Given the description of an element on the screen output the (x, y) to click on. 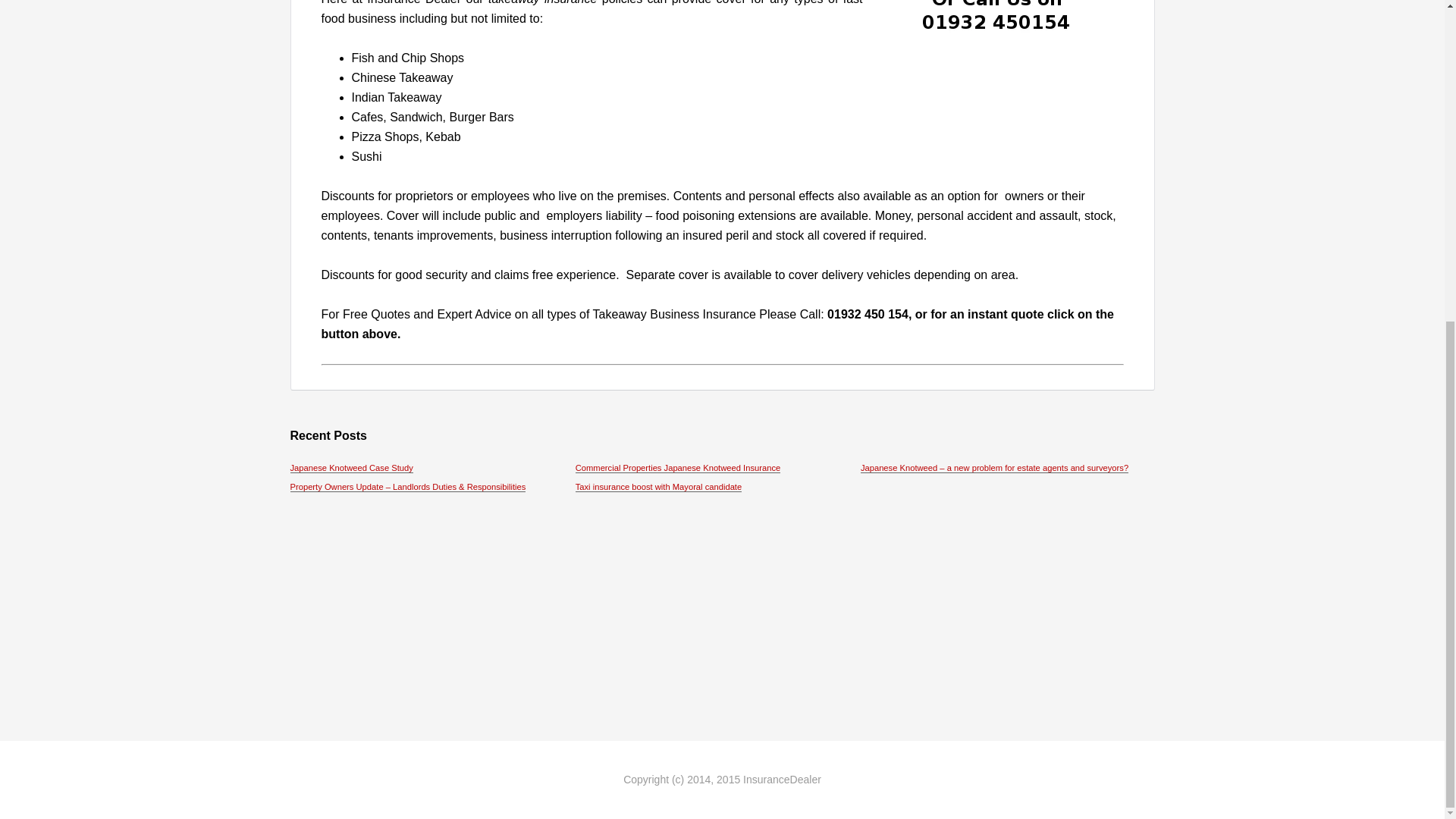
Quote me now  (1002, 21)
